Given the description of an element on the screen output the (x, y) to click on. 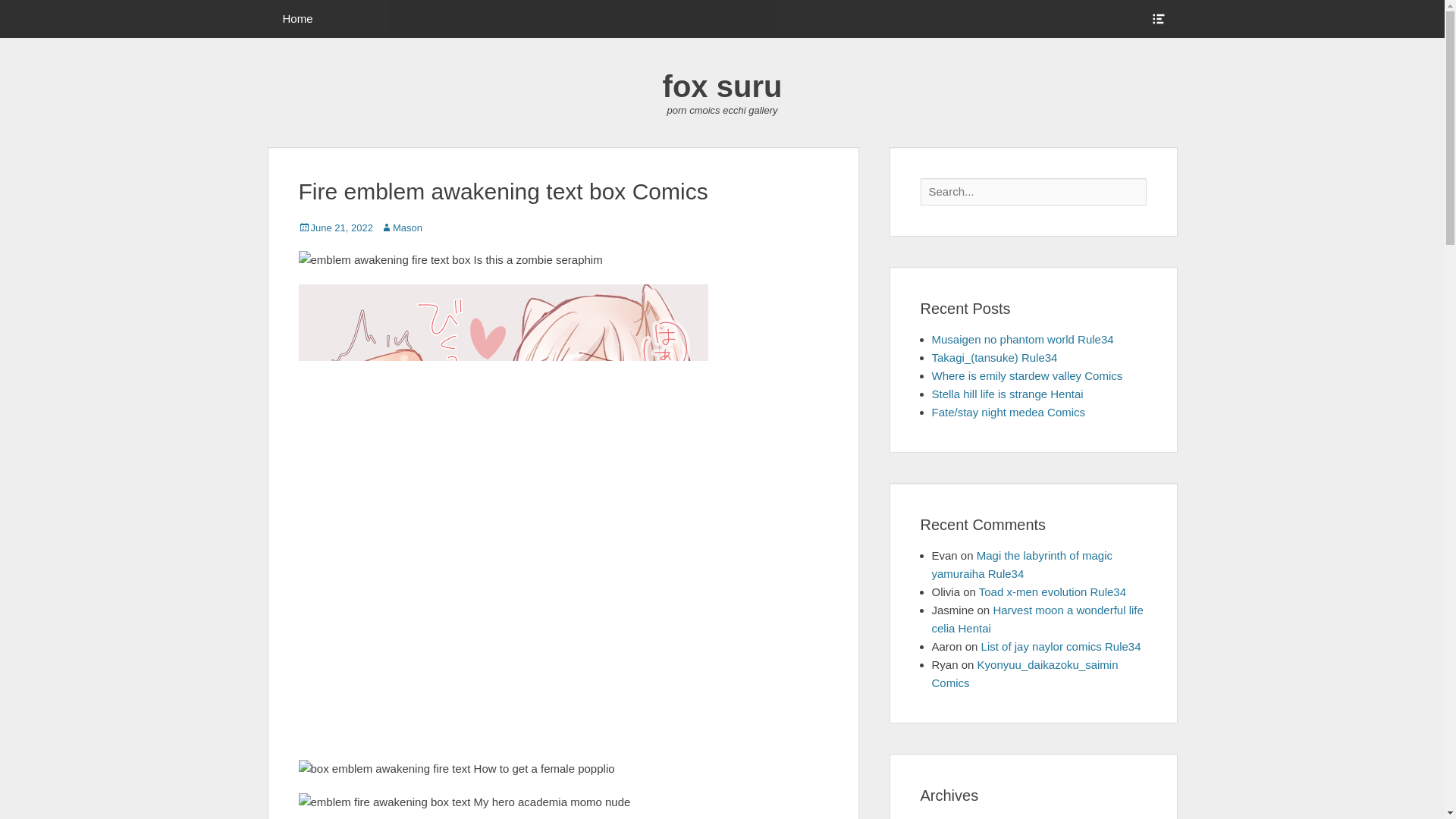
June 21, 2022 (335, 227)
Search for: (1033, 191)
Toad x-men evolution Rule34 (1051, 591)
Show Header Sidebar Content (1157, 18)
Magi the labyrinth of magic yamuraiha Rule34 (1021, 563)
Harvest moon a wonderful life celia Hentai (1036, 618)
Search (24, 9)
fox suru (722, 86)
List of jay naylor comics Rule34 (1061, 645)
Musaigen no phantom world Rule34 (1022, 338)
Home (296, 18)
Stella hill life is strange Hentai (1007, 393)
Mason (401, 227)
Where is emily stardew valley Comics (1026, 375)
